Given the description of an element on the screen output the (x, y) to click on. 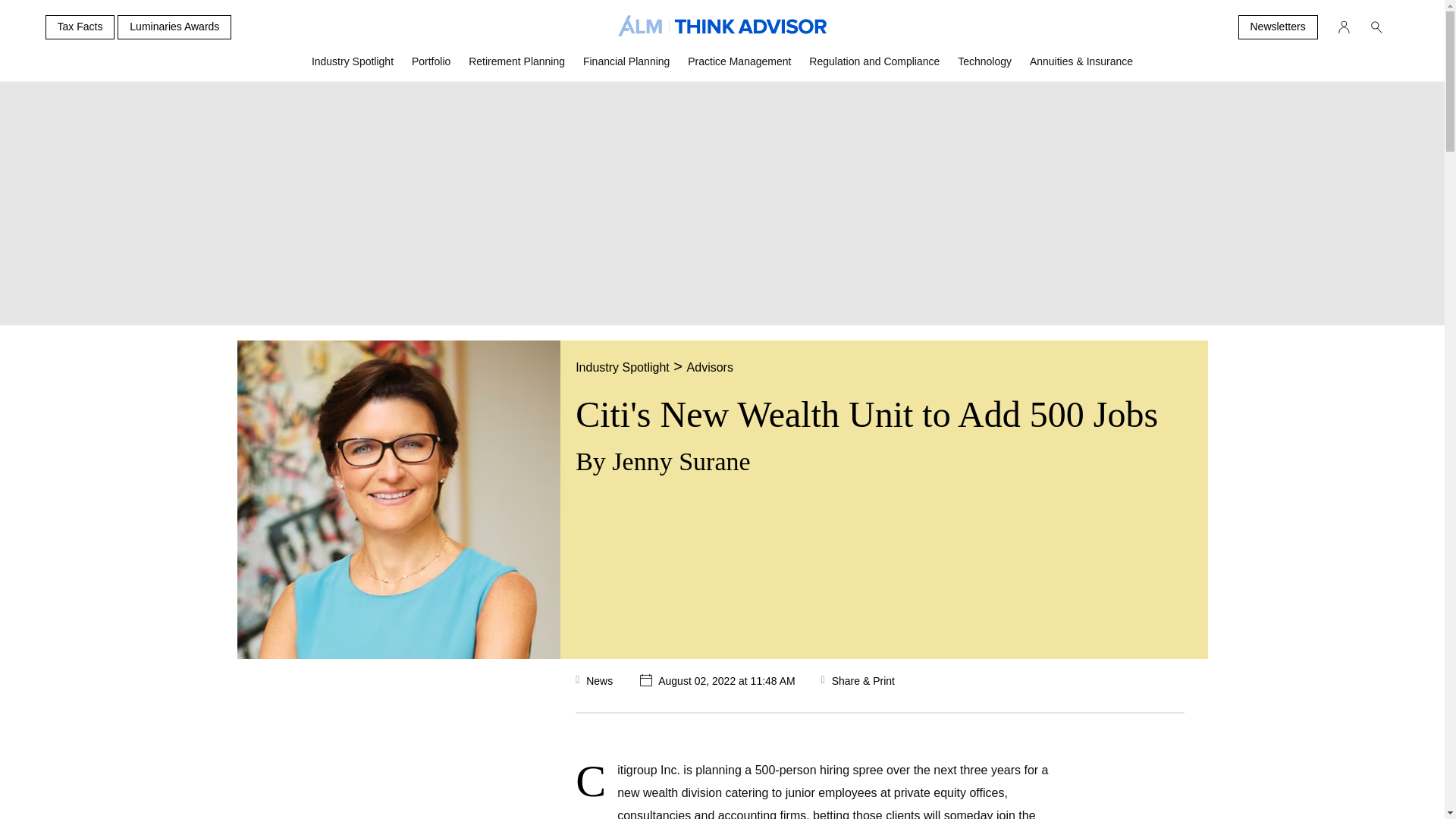
Tax Facts (80, 27)
Newsletters (1277, 27)
Industry Spotlight (352, 67)
Luminaries Awards (174, 27)
